Given the description of an element on the screen output the (x, y) to click on. 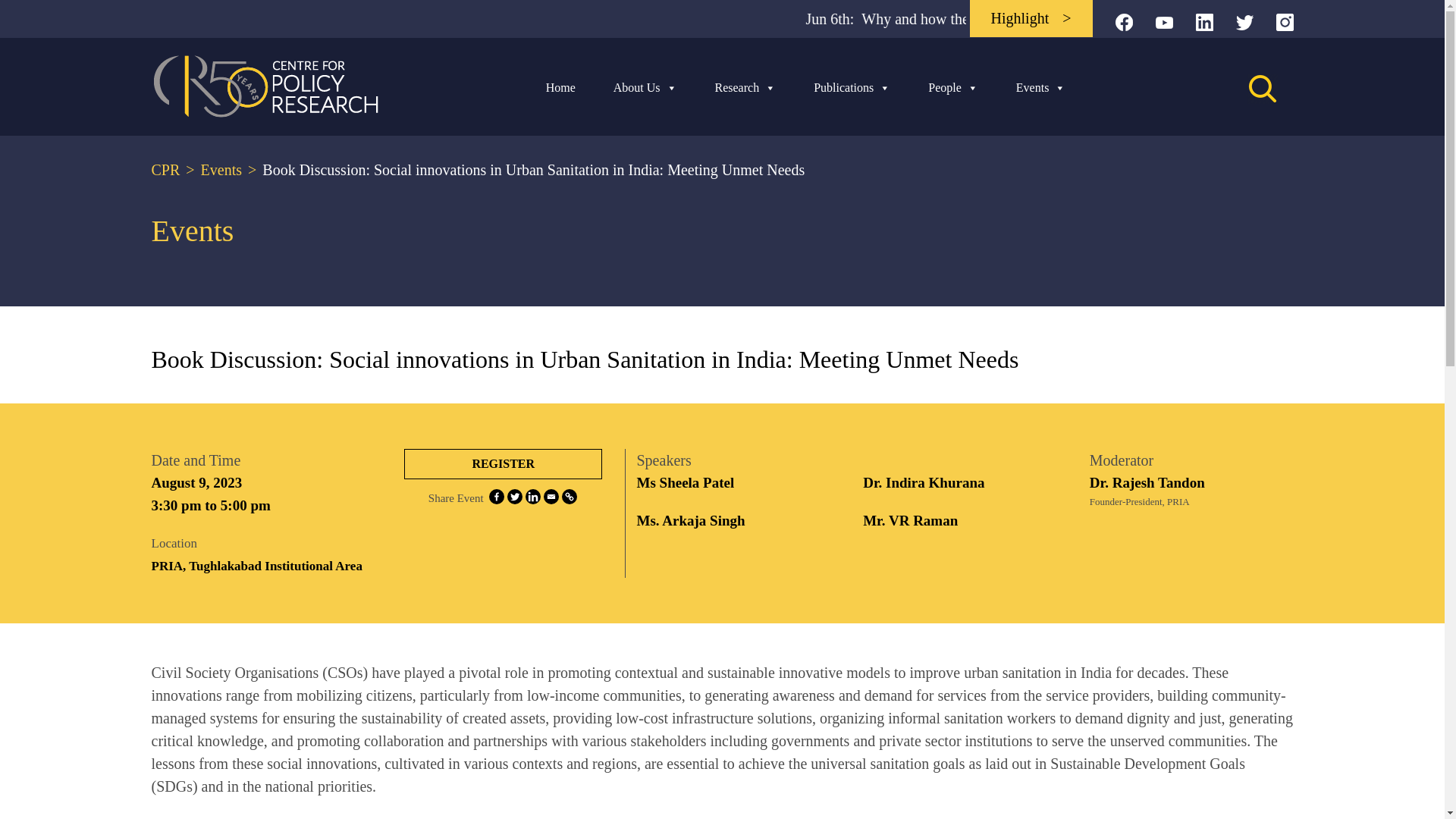
Copy Link (569, 496)
Twitter (514, 496)
Linkedin (532, 496)
Go to Events. (210, 169)
Email (551, 496)
Facebook (496, 496)
Go to CPR. (165, 169)
